Given the description of an element on the screen output the (x, y) to click on. 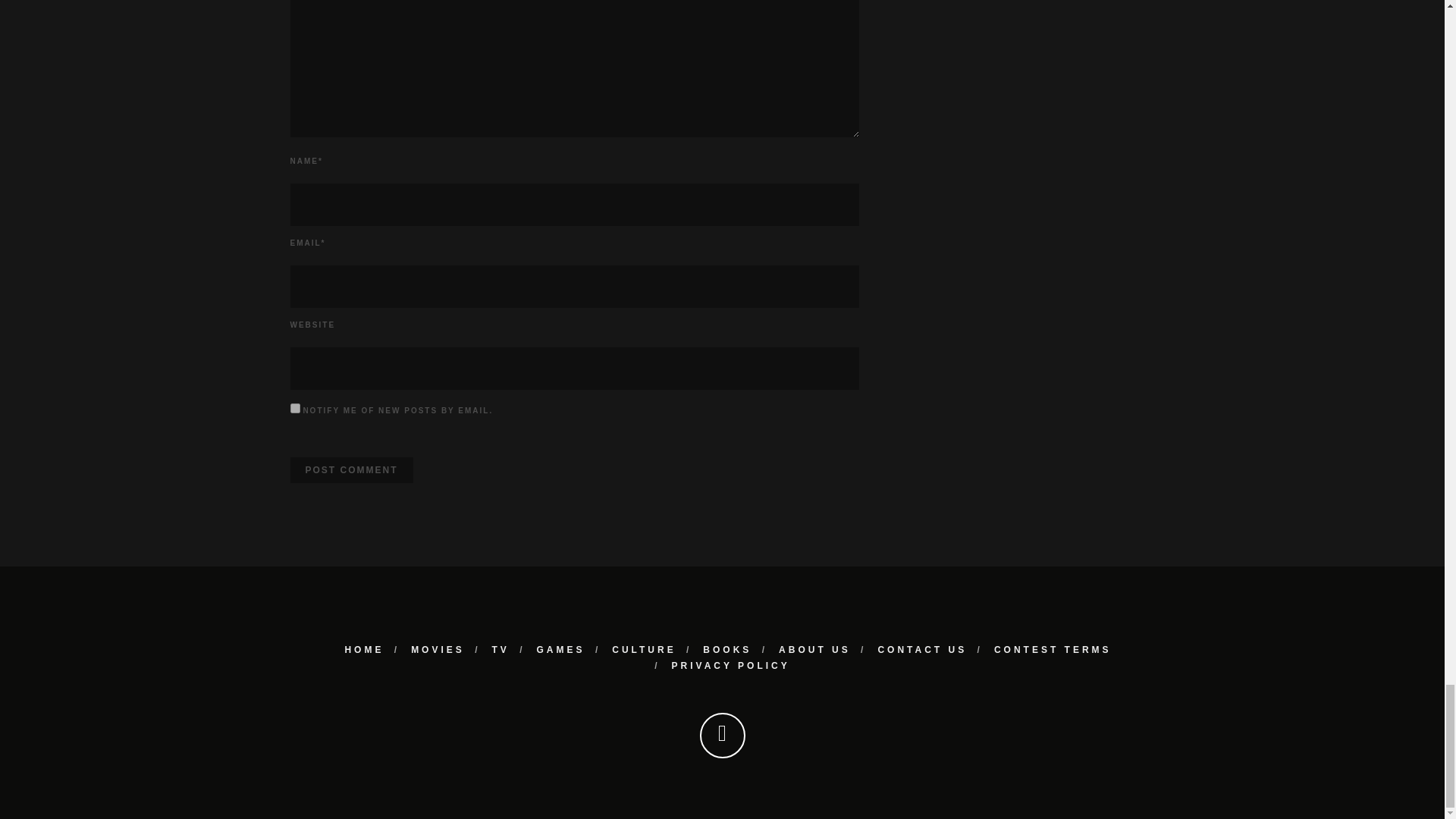
subscribe (294, 408)
Post Comment (350, 470)
